Given the description of an element on the screen output the (x, y) to click on. 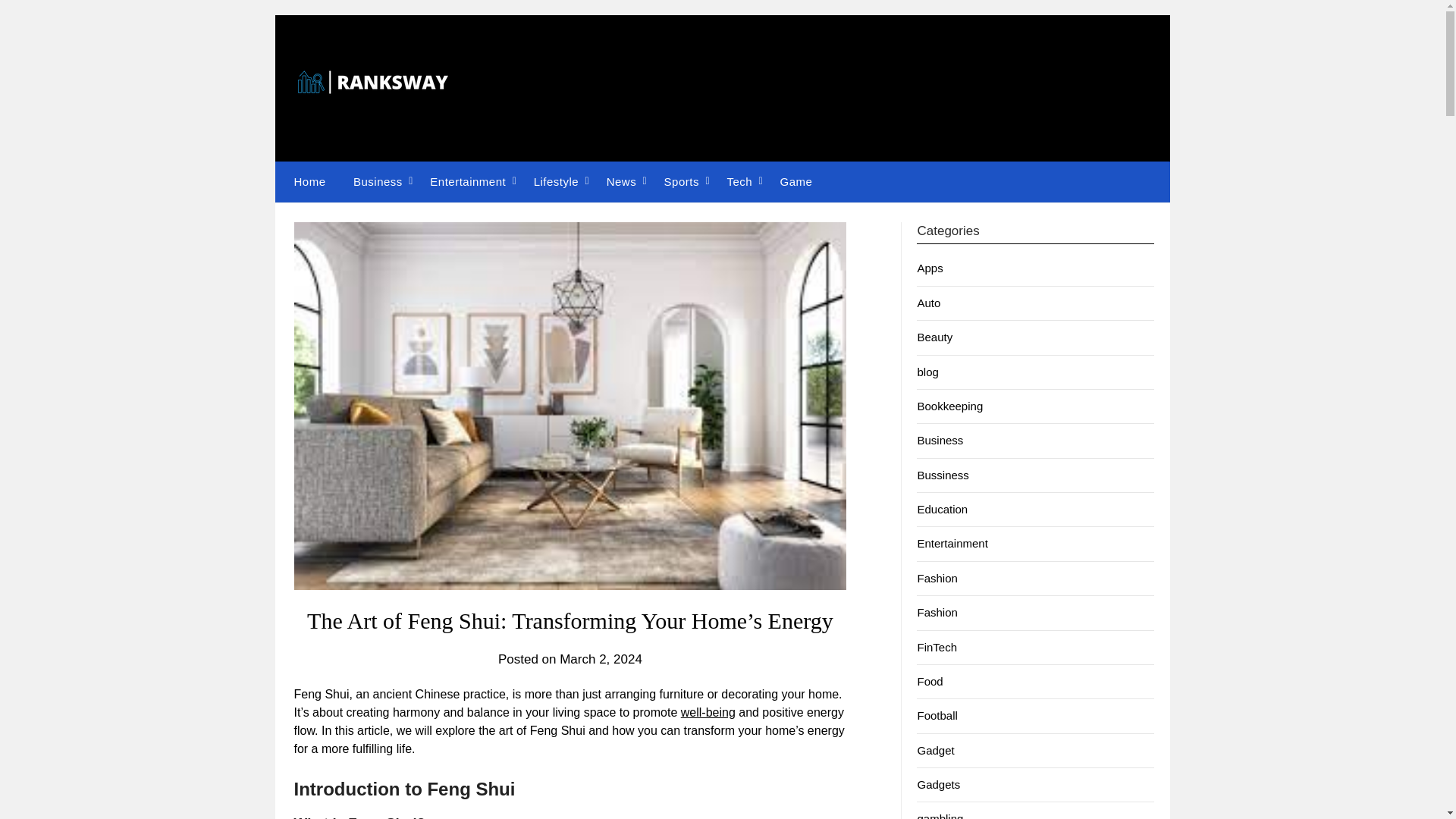
Auto (928, 302)
Apps (929, 267)
News (621, 181)
well-being (708, 712)
Game (796, 181)
Bookkeeping (949, 405)
blog (927, 371)
Lifestyle (556, 181)
Home (306, 181)
Beauty (934, 336)
Business (377, 181)
Entertainment (467, 181)
Business (939, 440)
Sports (681, 181)
Bussiness (942, 474)
